Given the description of an element on the screen output the (x, y) to click on. 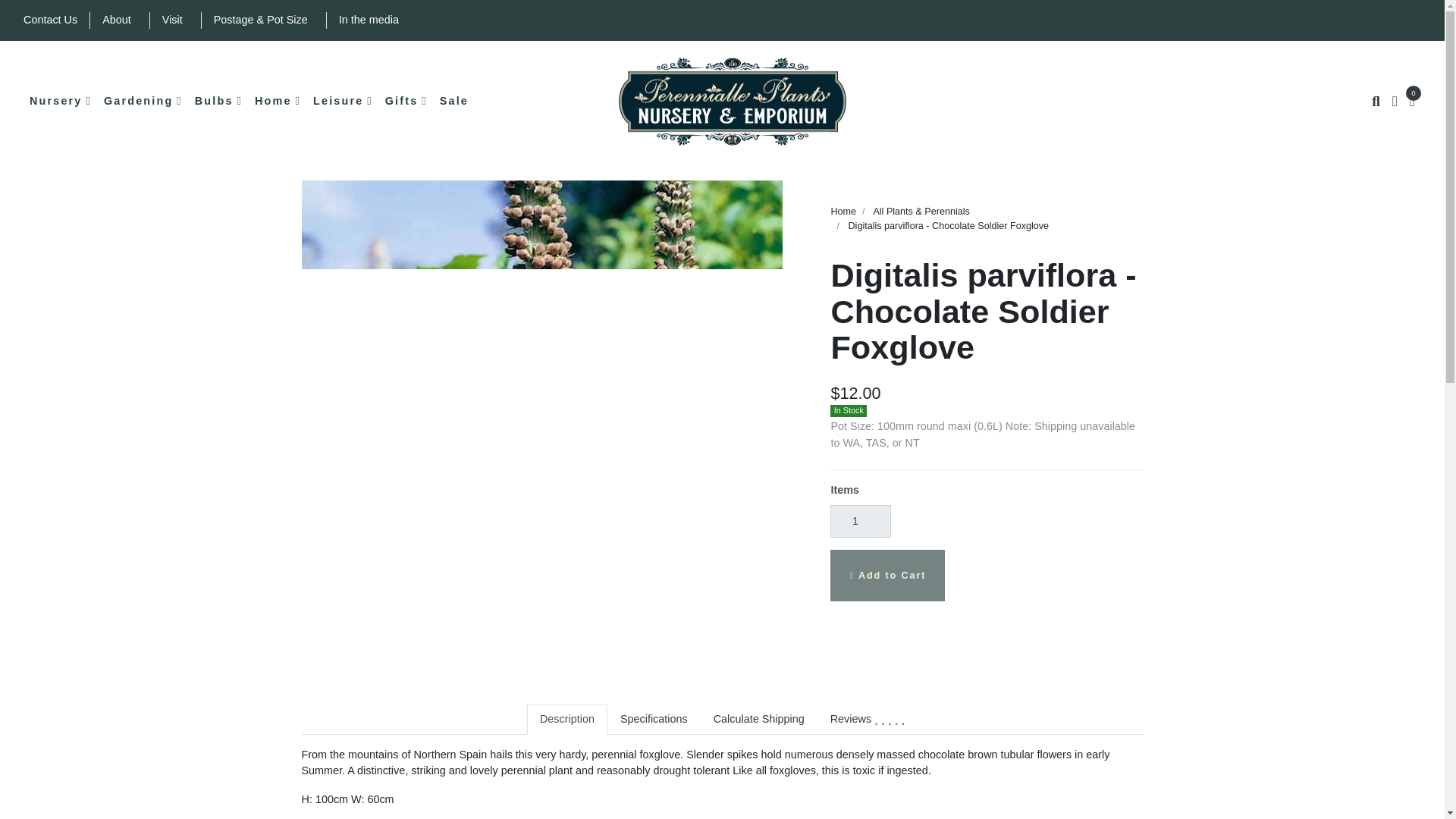
Visit (172, 19)
Nursery (60, 101)
Contact Us (50, 19)
Gardening (143, 101)
1 (860, 521)
About (116, 19)
Perennialle Plants (731, 101)
In the media (368, 19)
